Given the description of an element on the screen output the (x, y) to click on. 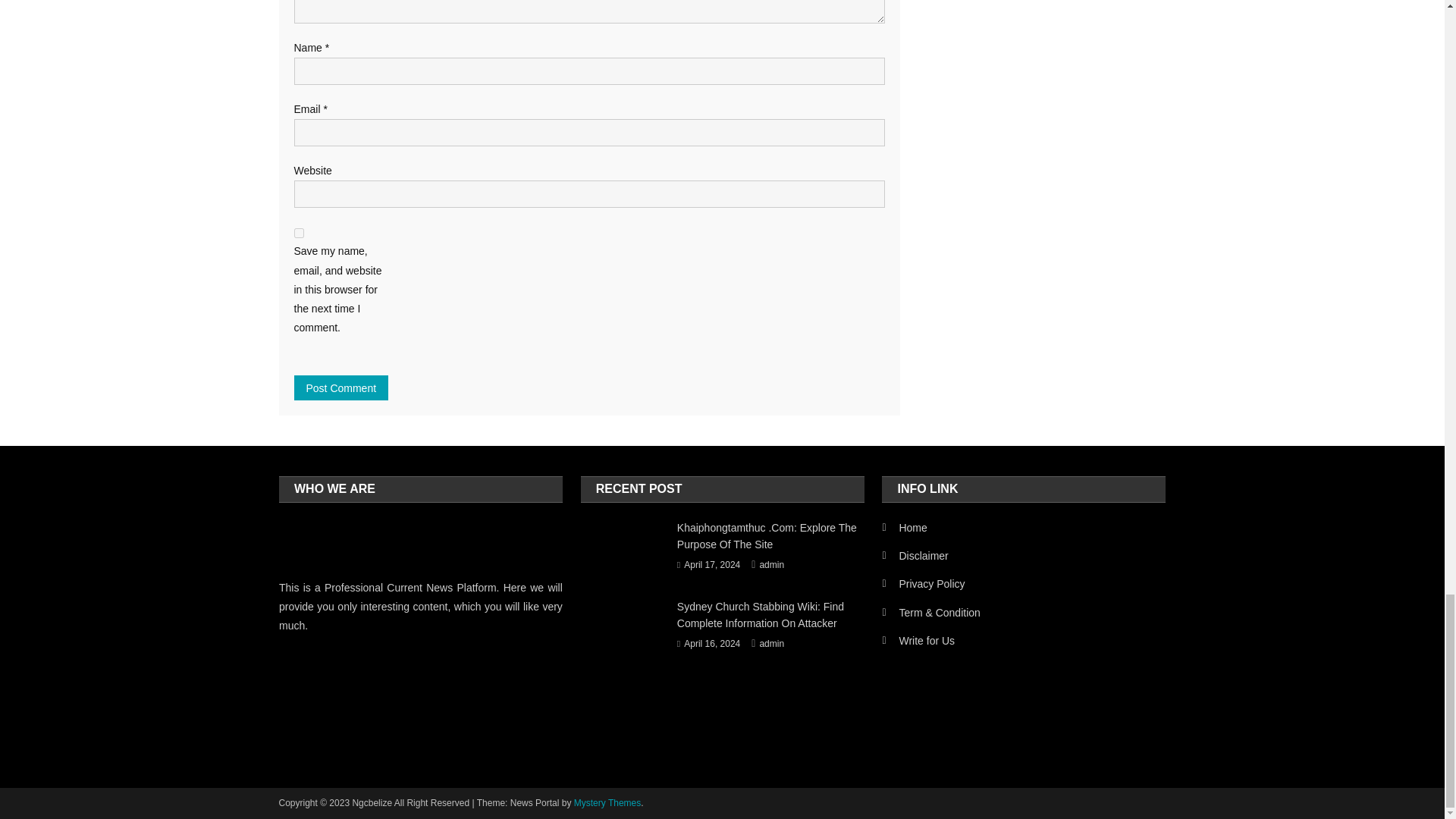
yes (299, 233)
Post Comment (341, 387)
DMCA.com Protection Status (392, 706)
